Given the description of an element on the screen output the (x, y) to click on. 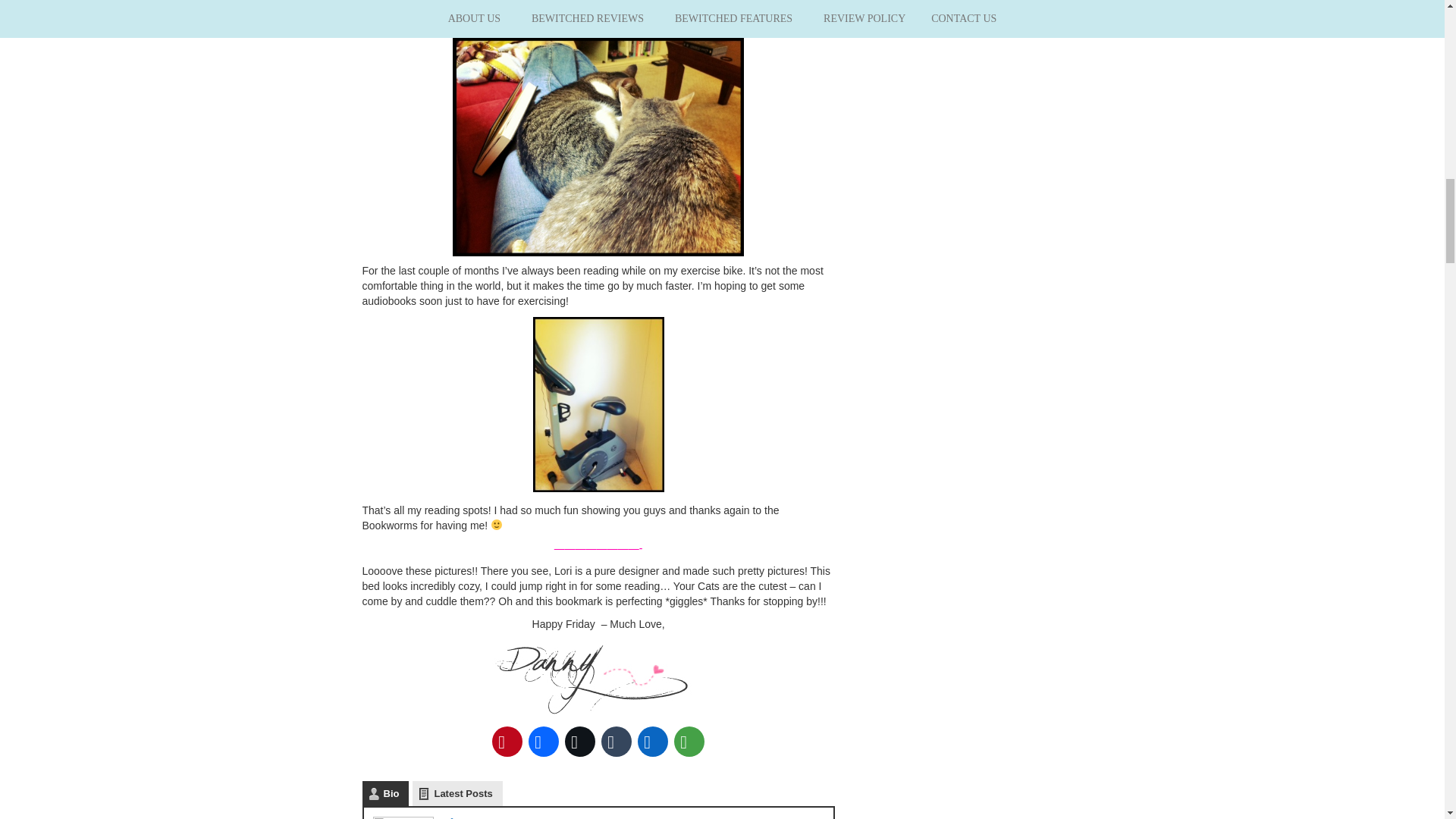
couch (596, 18)
Tumblr (616, 741)
LinkedIn (652, 741)
bike (597, 404)
Pinterest (507, 741)
danny (598, 677)
Facebook (543, 741)
lapcats (598, 146)
More Options (689, 741)
